Given the description of an element on the screen output the (x, y) to click on. 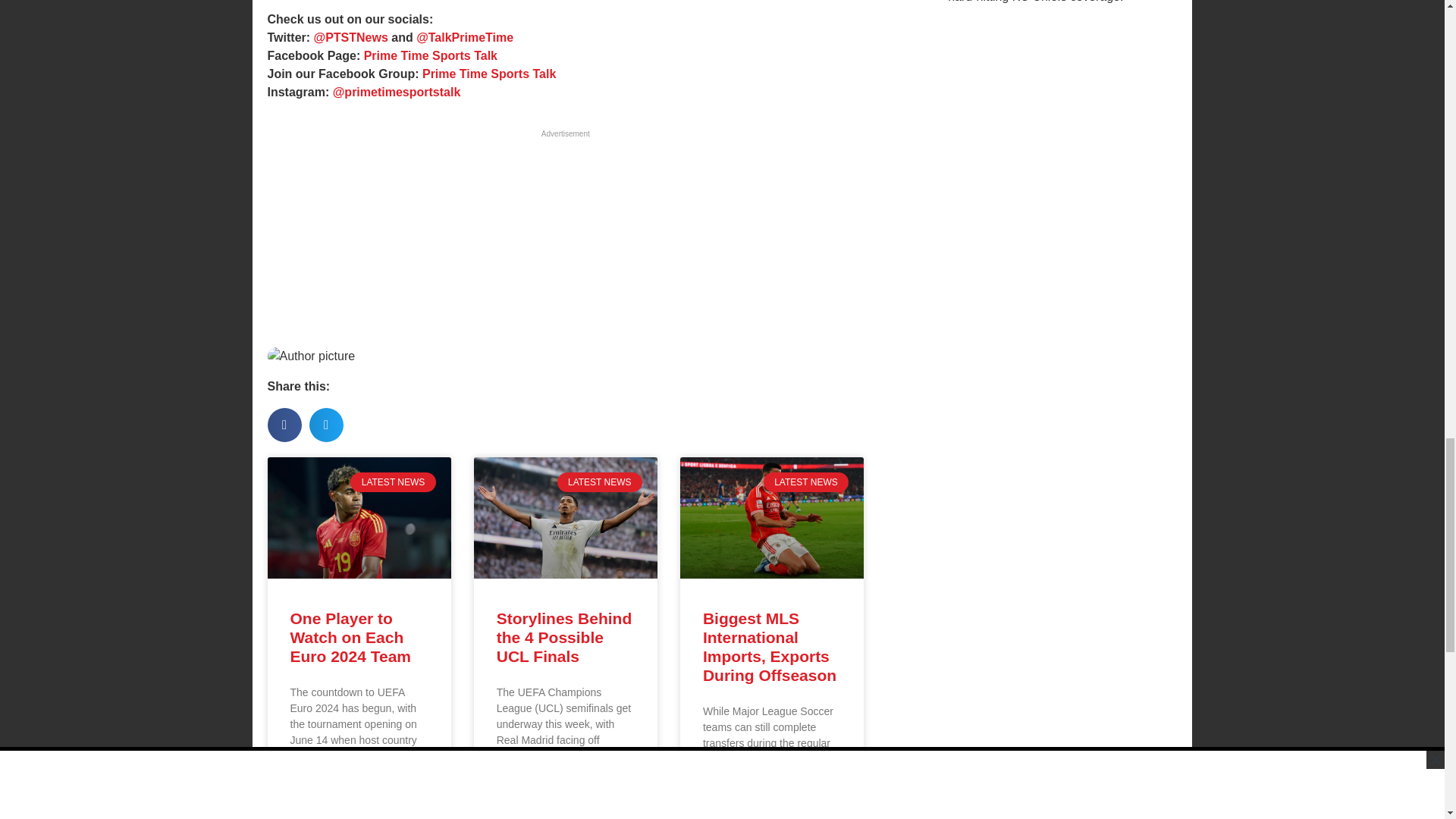
3rd party ad content (564, 237)
